Given the description of an element on the screen output the (x, y) to click on. 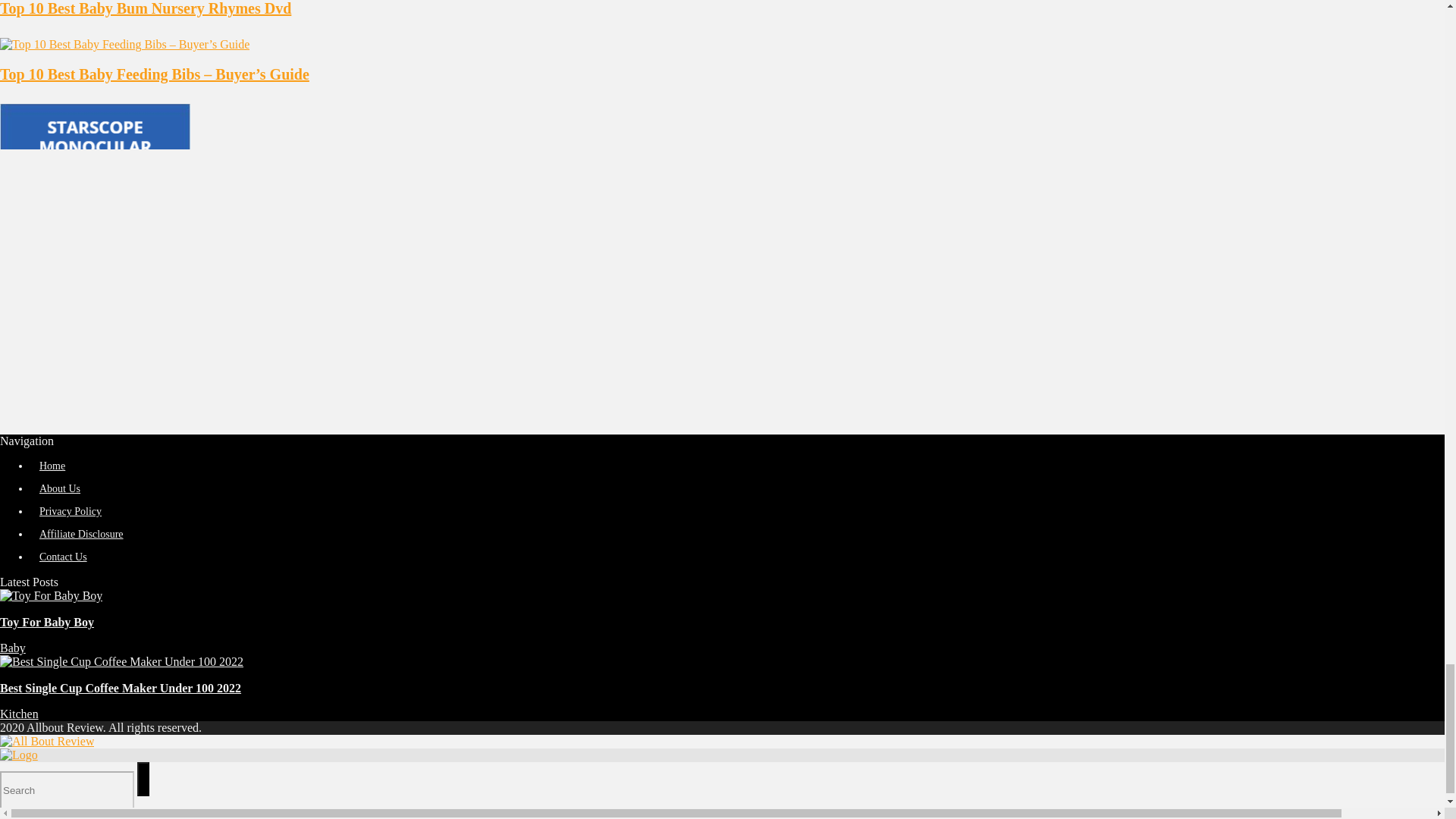
Home (52, 465)
Privacy Policy (70, 511)
Contact Us (63, 556)
About Us (59, 488)
Top 10 Best Baby Bum Nursery Rhymes Dvd (145, 8)
Affiliate Disclosure (81, 533)
